Given the description of an element on the screen output the (x, y) to click on. 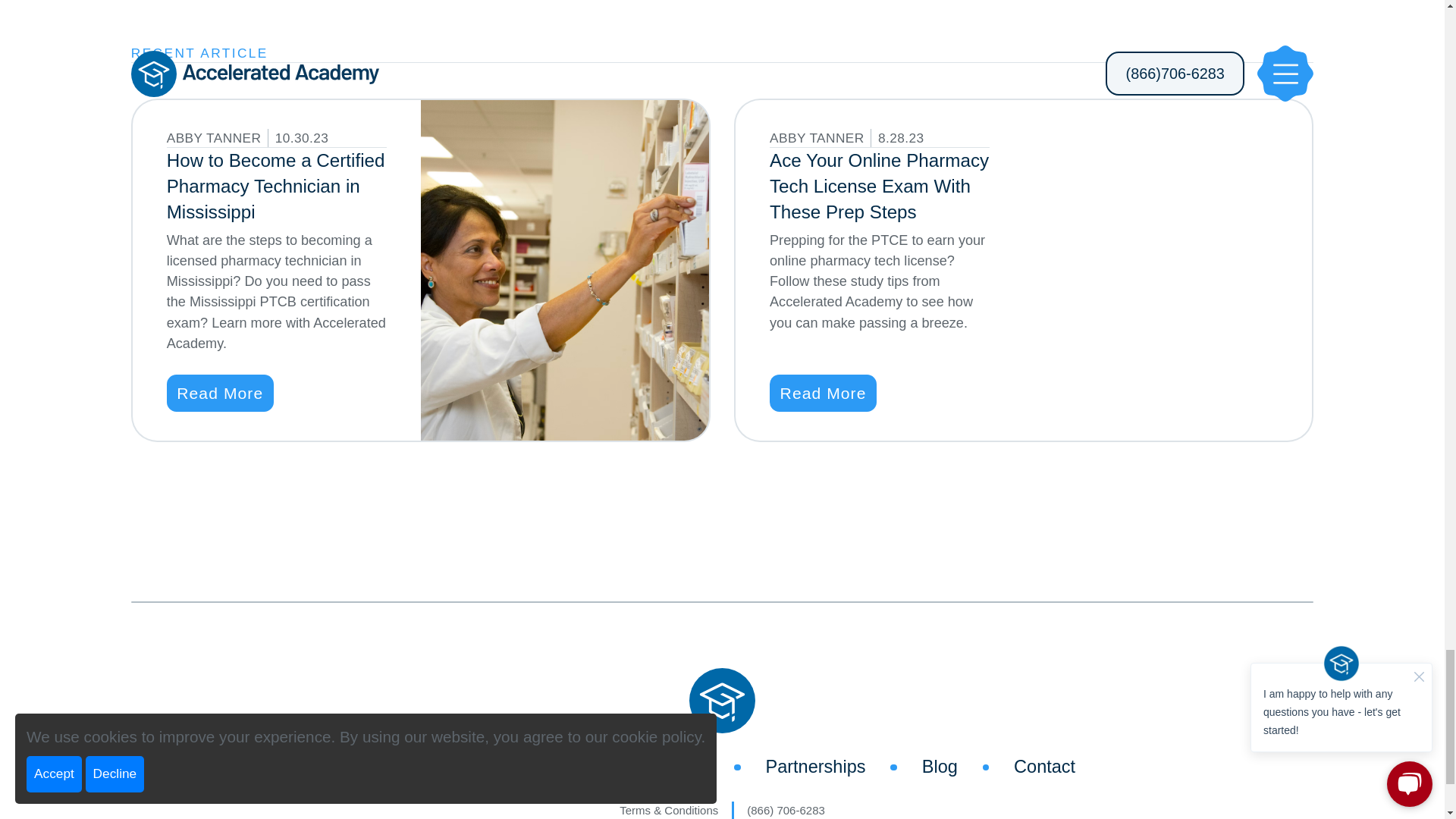
Career Services (645, 767)
Tuition (395, 767)
About (501, 767)
Contact (1044, 767)
Partnerships (814, 767)
Blog (939, 767)
